Given the description of an element on the screen output the (x, y) to click on. 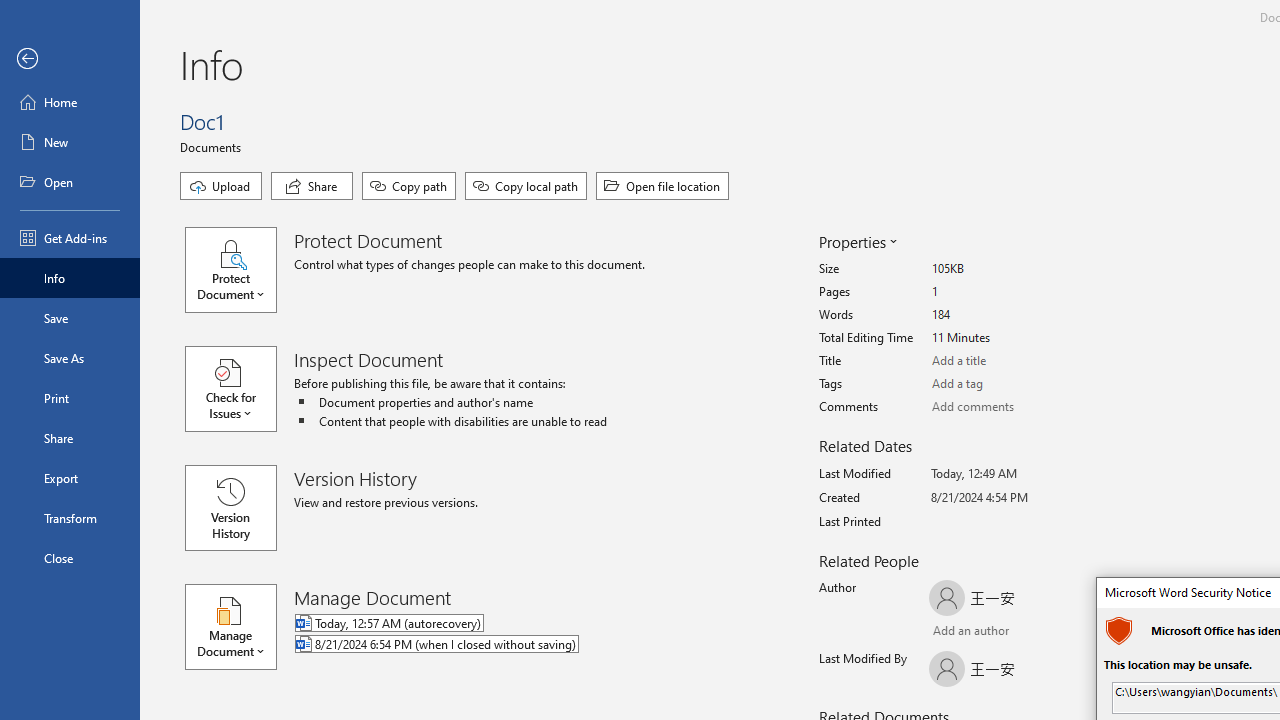
Size (1006, 269)
Upload (221, 186)
Close (69, 557)
Transform (69, 517)
Open file location (662, 186)
Properties (856, 241)
Total Editing Time (1006, 338)
Print (69, 398)
Class: NetUIImage (1121, 630)
Export (69, 477)
Copy path (408, 186)
